Given the description of an element on the screen output the (x, y) to click on. 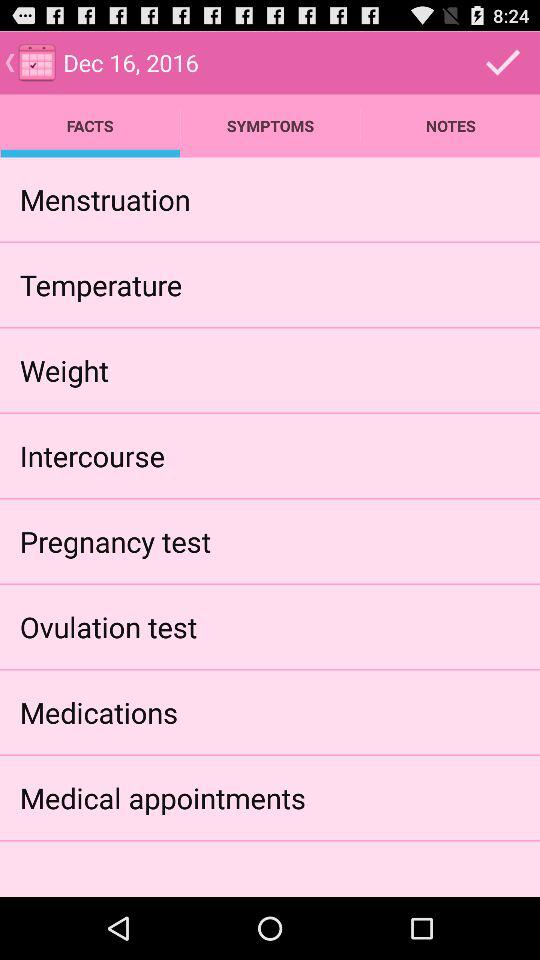
open item below the menstruation app (100, 284)
